Given the description of an element on the screen output the (x, y) to click on. 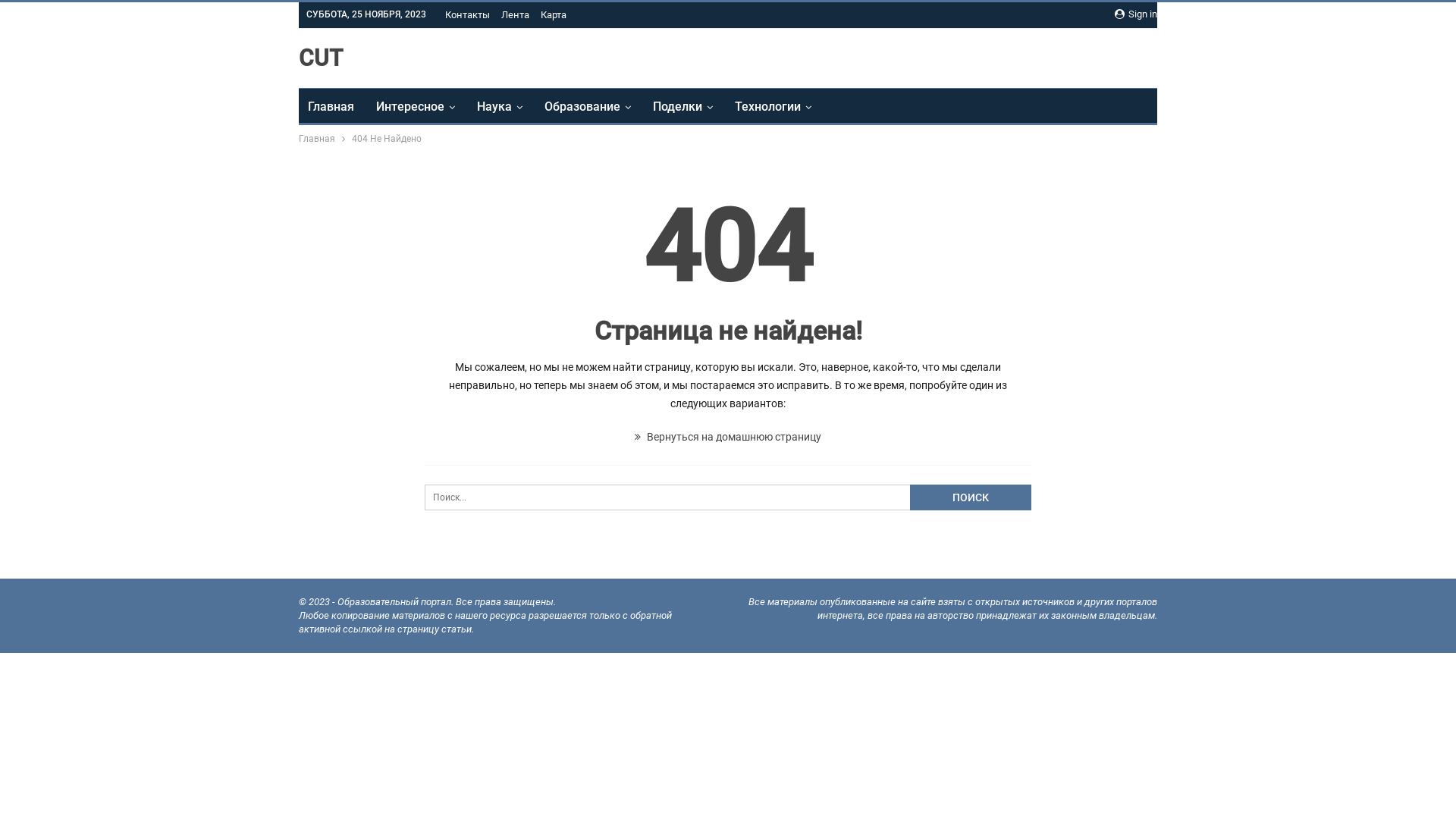
CUT Element type: text (320, 57)
Sign in Element type: text (1135, 14)
